Given the description of an element on the screen output the (x, y) to click on. 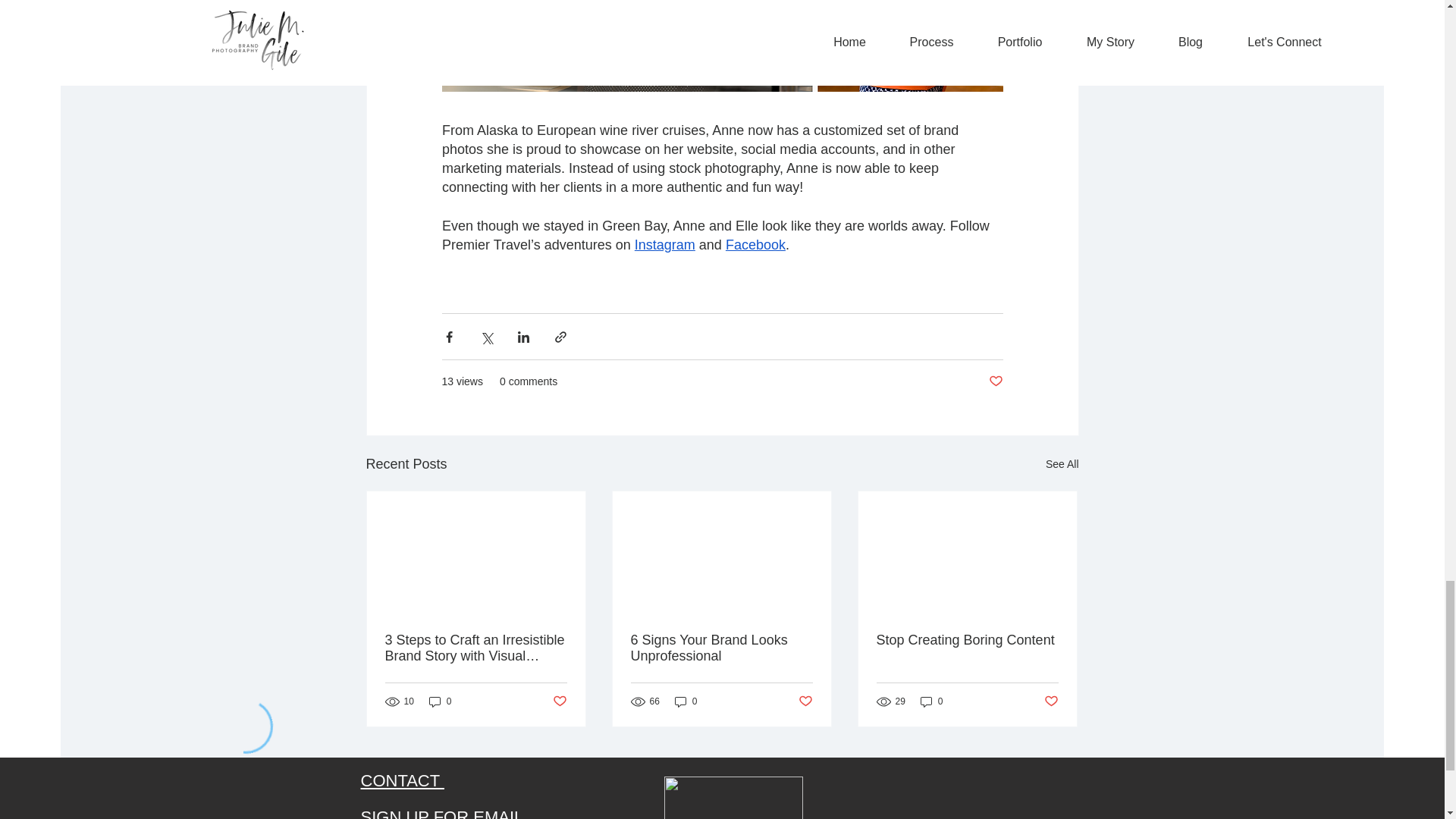
Post not marked as liked (1050, 701)
0 (931, 701)
Stop Creating Boring Content (967, 640)
6 Signs Your Brand Looks Unprofessional (721, 648)
Post not marked as liked (804, 701)
Post not marked as liked (558, 701)
0 (440, 701)
Facebook (754, 244)
Instagram (663, 244)
Post not marked as liked (995, 381)
